Given the description of an element on the screen output the (x, y) to click on. 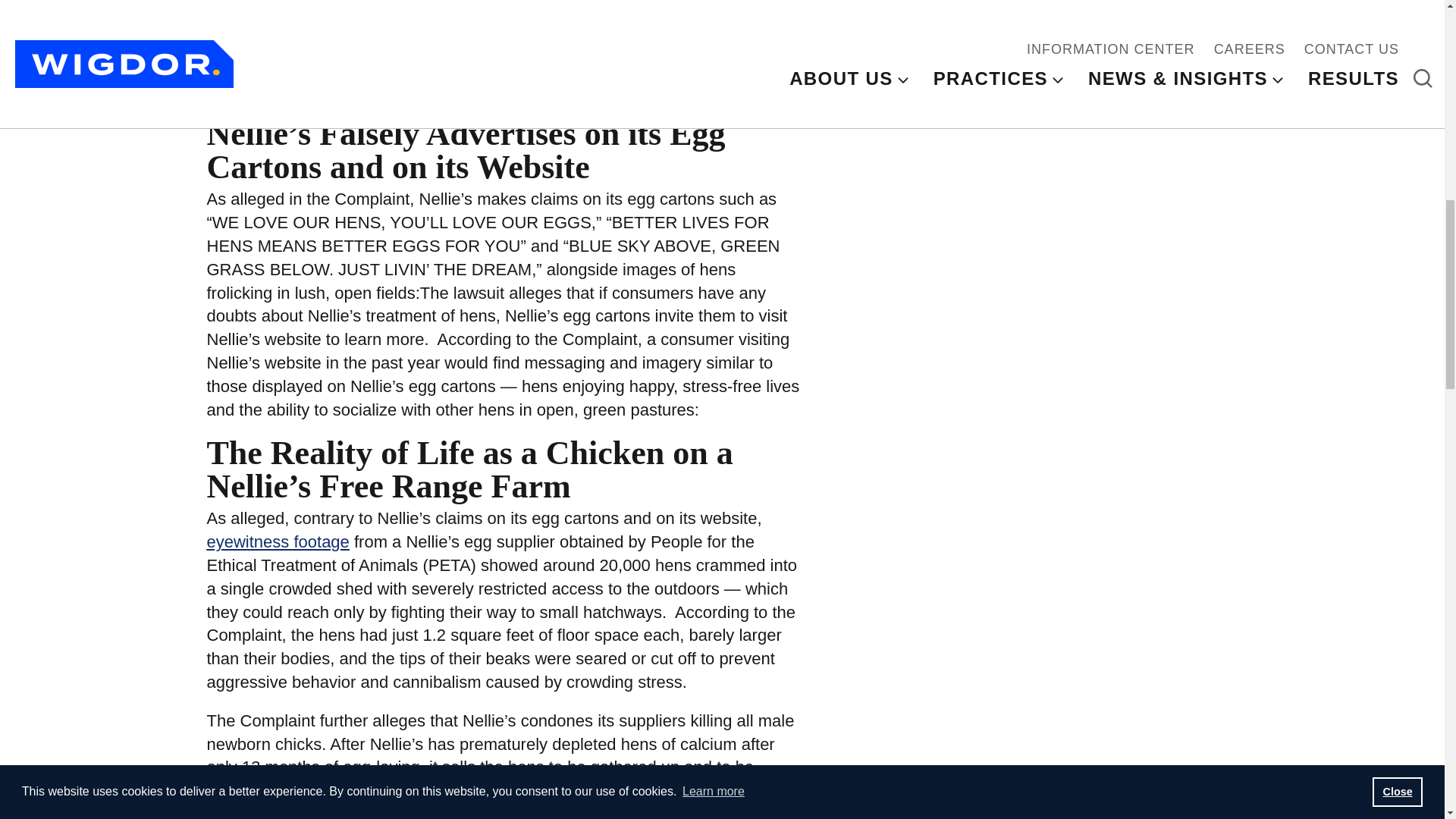
eyewitness footage (277, 541)
